Given the description of an element on the screen output the (x, y) to click on. 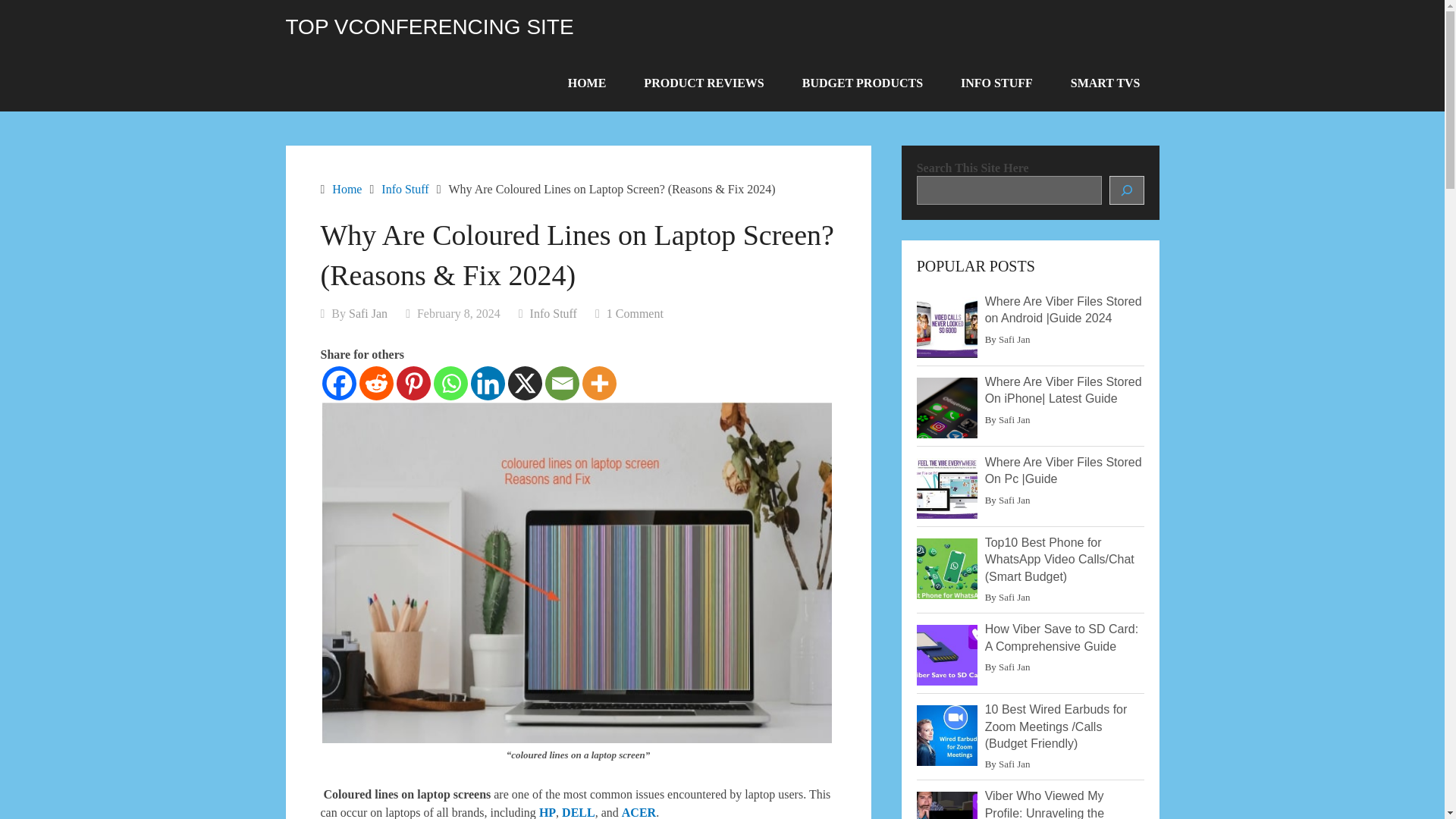
INFO STUFF (996, 83)
Safi Jan (368, 313)
Info Stuff (552, 313)
HOME (587, 83)
1 Comment (635, 313)
X (524, 383)
Posts by Safi Jan (368, 313)
BUDGET PRODUCTS (862, 83)
SMART TVS (1104, 83)
TOP VCONFERENCING SITE (429, 26)
Email (561, 383)
DELL (578, 812)
Safi Jan (1014, 338)
ACER (638, 812)
Reddit (376, 383)
